Given the description of an element on the screen output the (x, y) to click on. 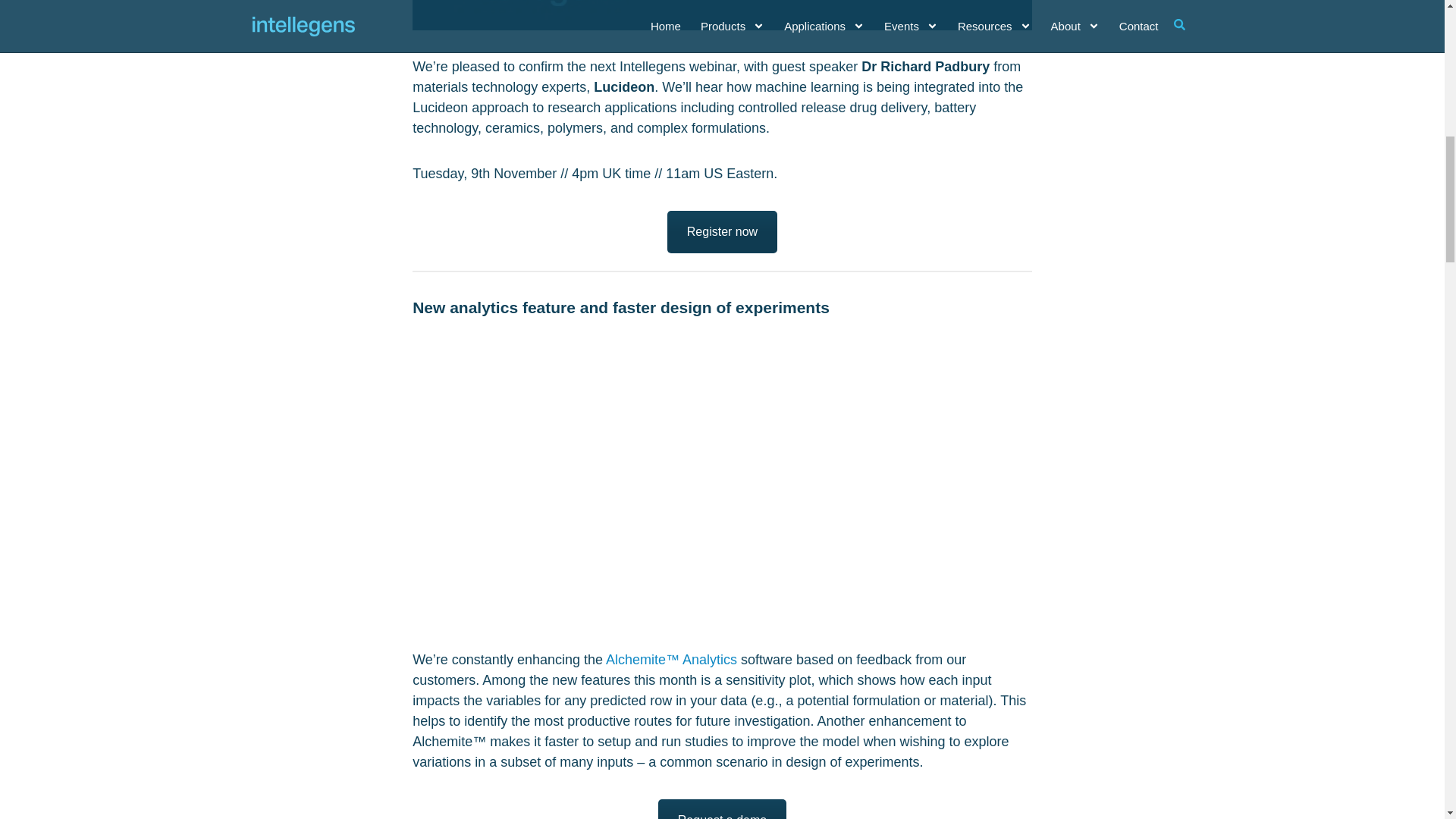
image (722, 353)
AMtech forum (722, 809)
Webinar registration (721, 231)
